Given the description of an element on the screen output the (x, y) to click on. 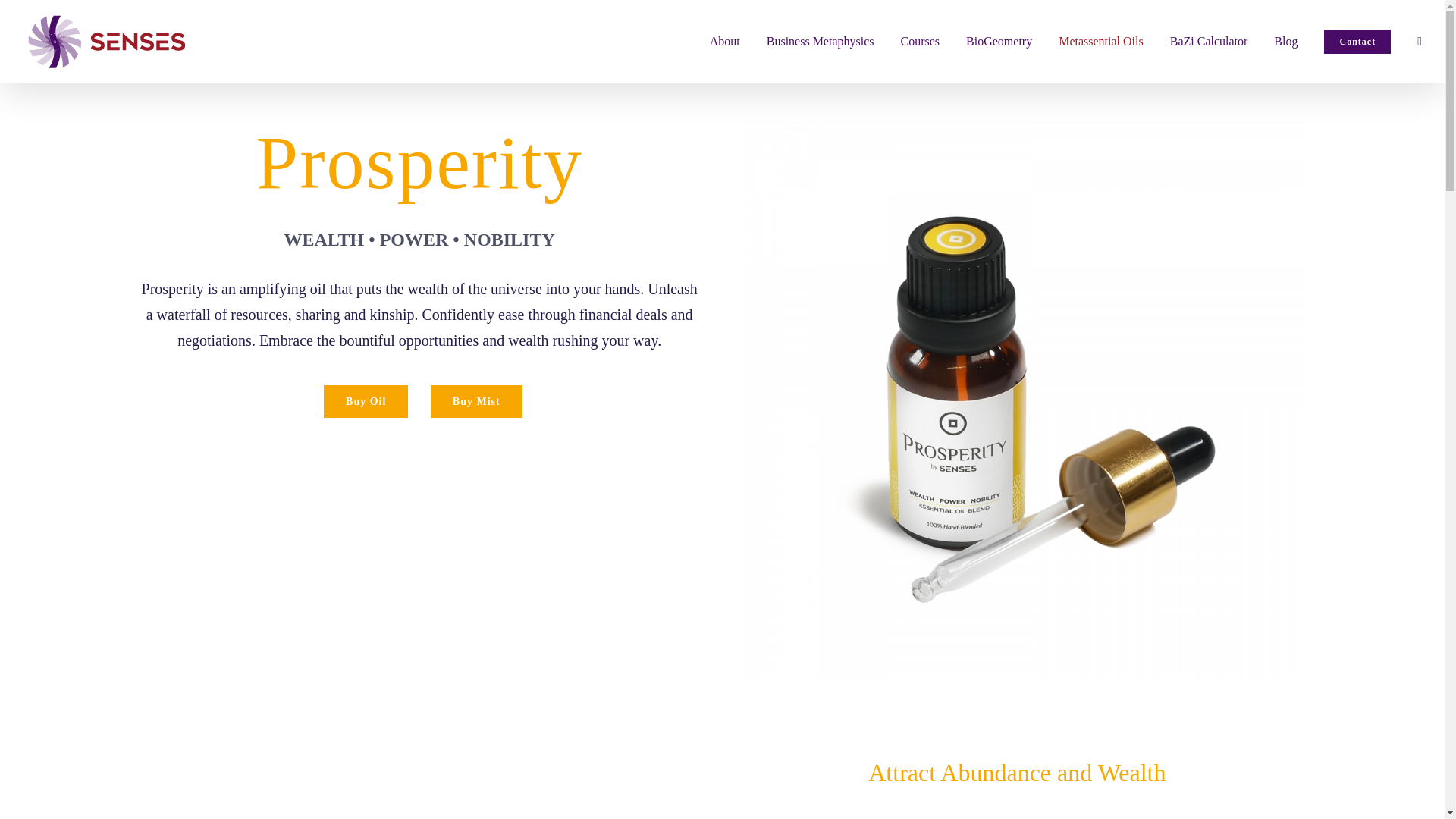
BaZi Calculator (1208, 41)
BioGeometry (999, 41)
Contact (1356, 41)
Business Metaphysics (821, 41)
Metassential Oils (1100, 41)
